Given the description of an element on the screen output the (x, y) to click on. 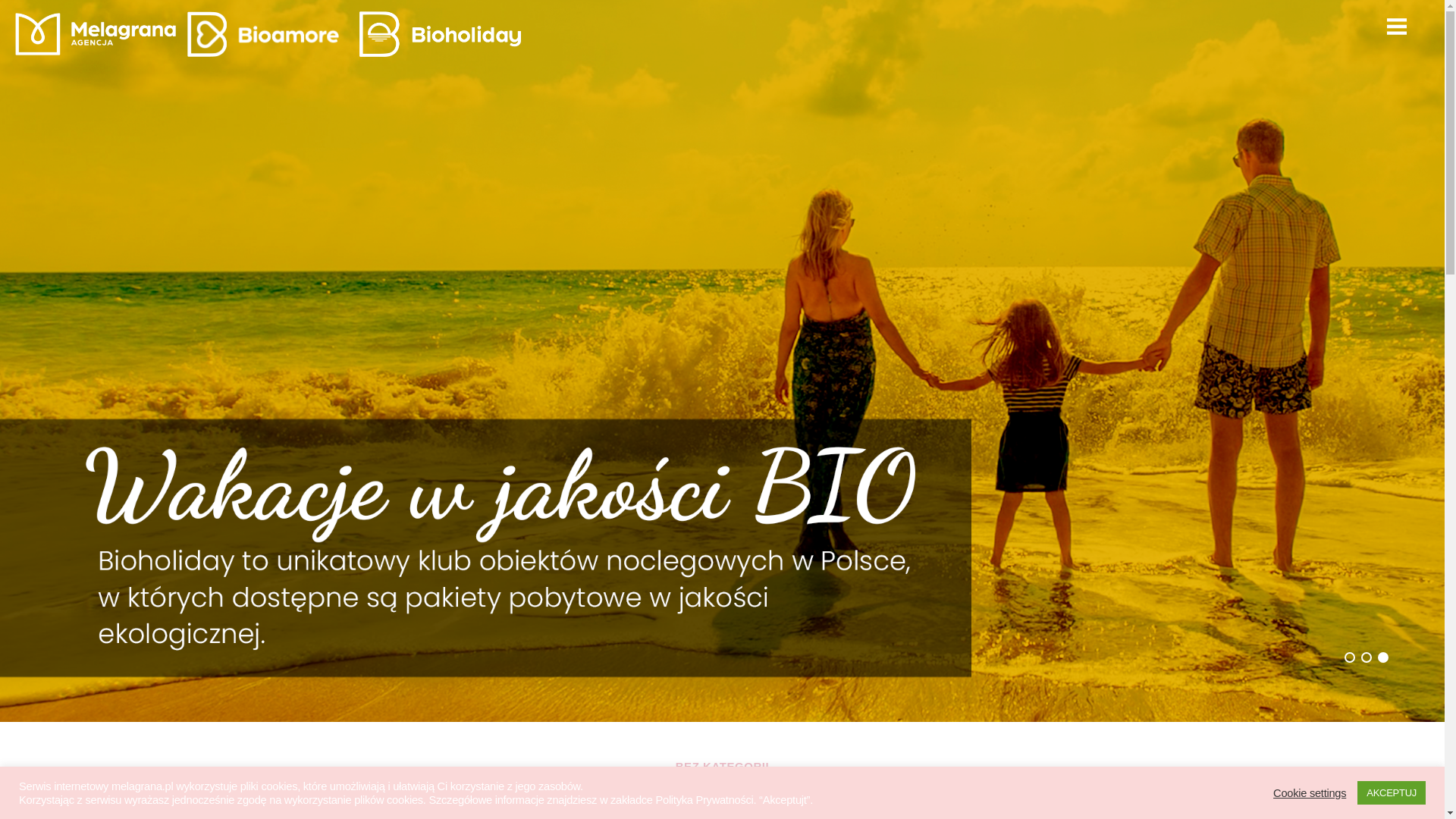
BEZ KATEGORII (722, 767)
